Given the description of an element on the screen output the (x, y) to click on. 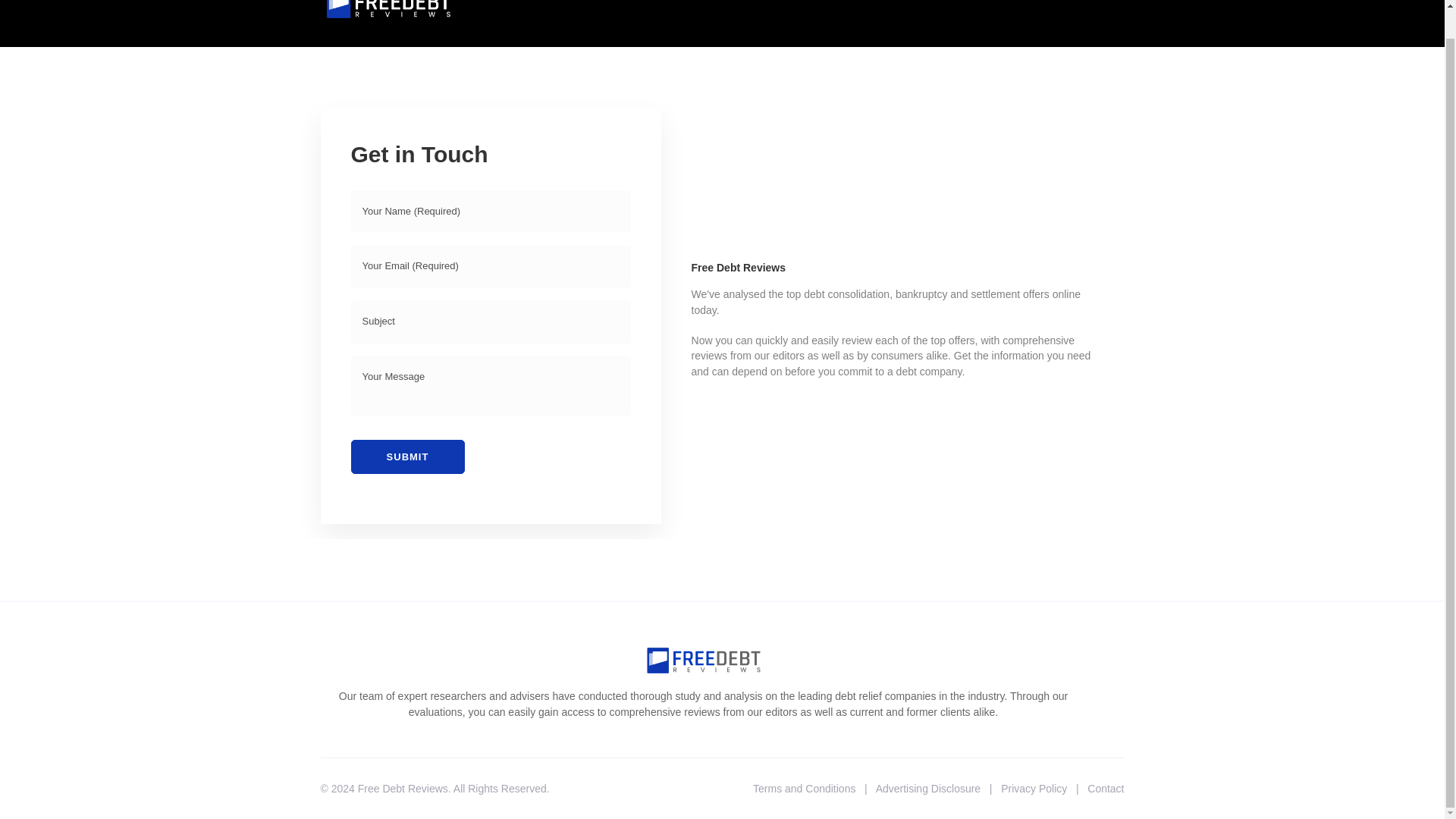
Free Debt Reviews (403, 788)
Logo-02 (388, 11)
Advertising Disclosure (928, 788)
Submit (407, 456)
Submit (407, 456)
Contact (1105, 788)
Privacy Policy (1034, 788)
Terms and Conditions (804, 788)
